Given the description of an element on the screen output the (x, y) to click on. 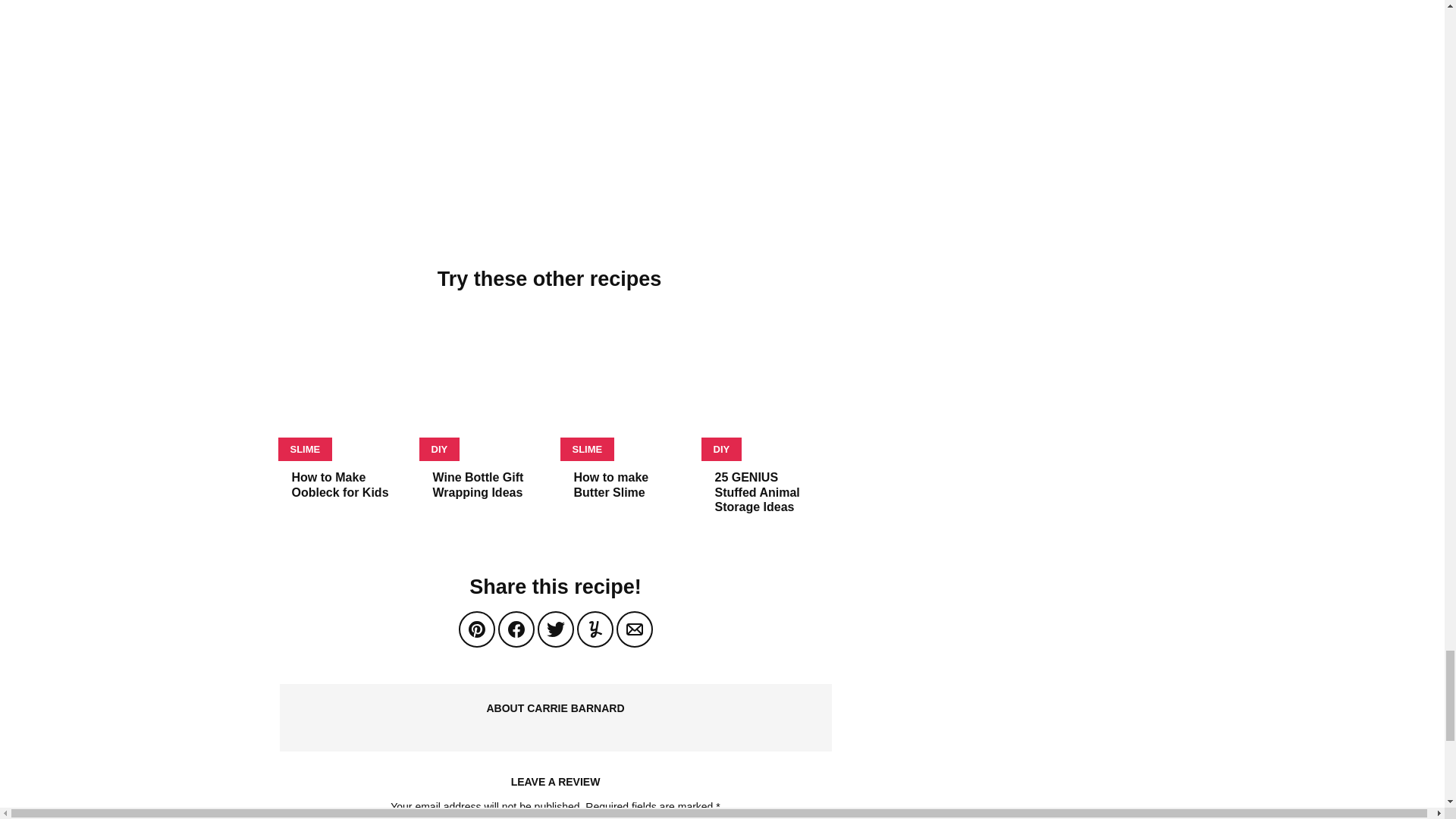
How to Make Oobleck for Kids (339, 483)
Share on Pinterest (476, 628)
Share via Email (633, 628)
Share on Facebook (515, 628)
Share on Yummly (594, 628)
Share on Twitter (555, 628)
Wine Bottle Gift Wrapping Ideas (477, 483)
